Given the description of an element on the screen output the (x, y) to click on. 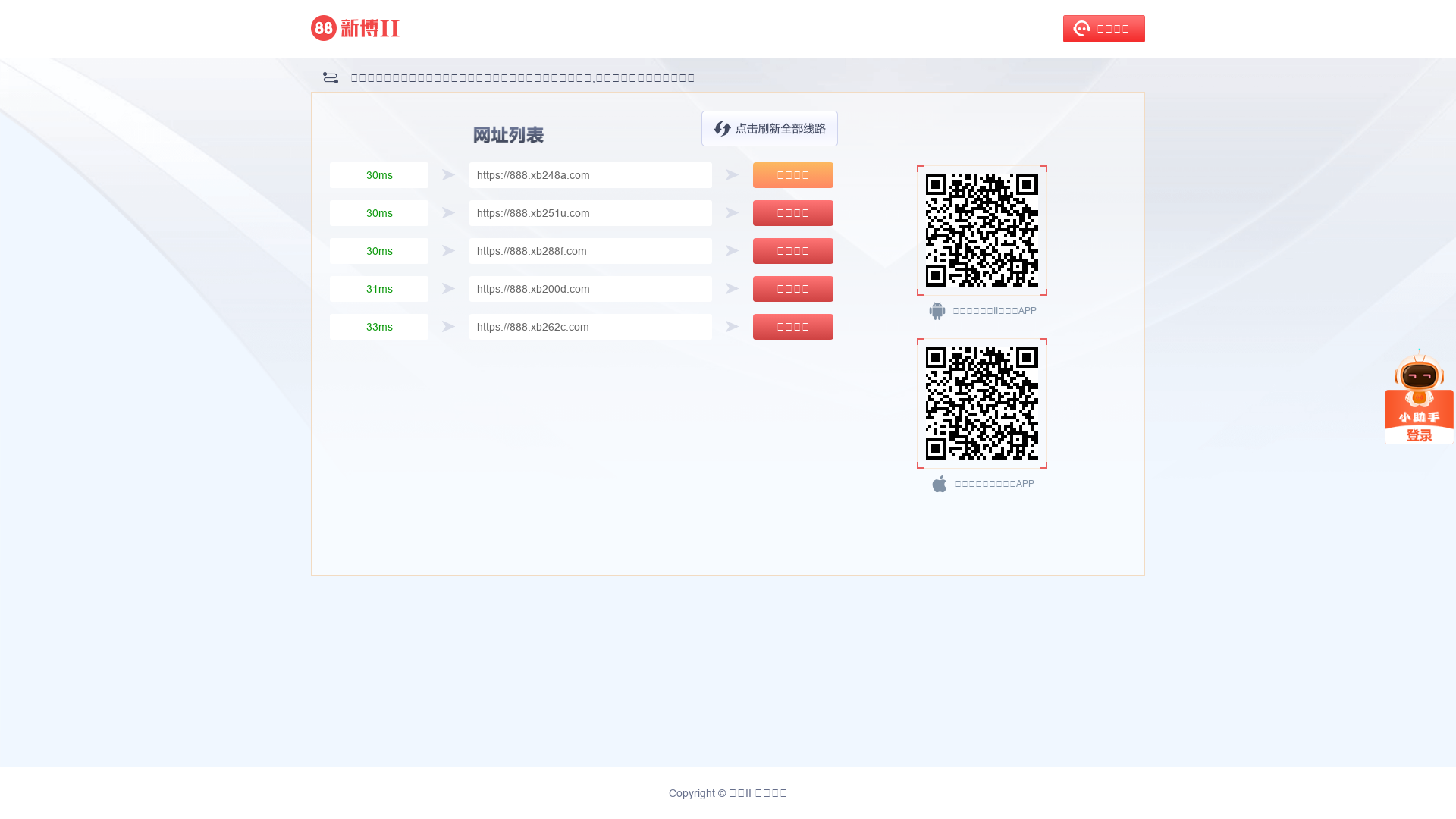
https://www.d3s9v.cc/download/nn9ejT Element type: hover (981, 230)
https://www.d3s9v.cc/download/nn9ejT Element type: hover (981, 403)
